Given the description of an element on the screen output the (x, y) to click on. 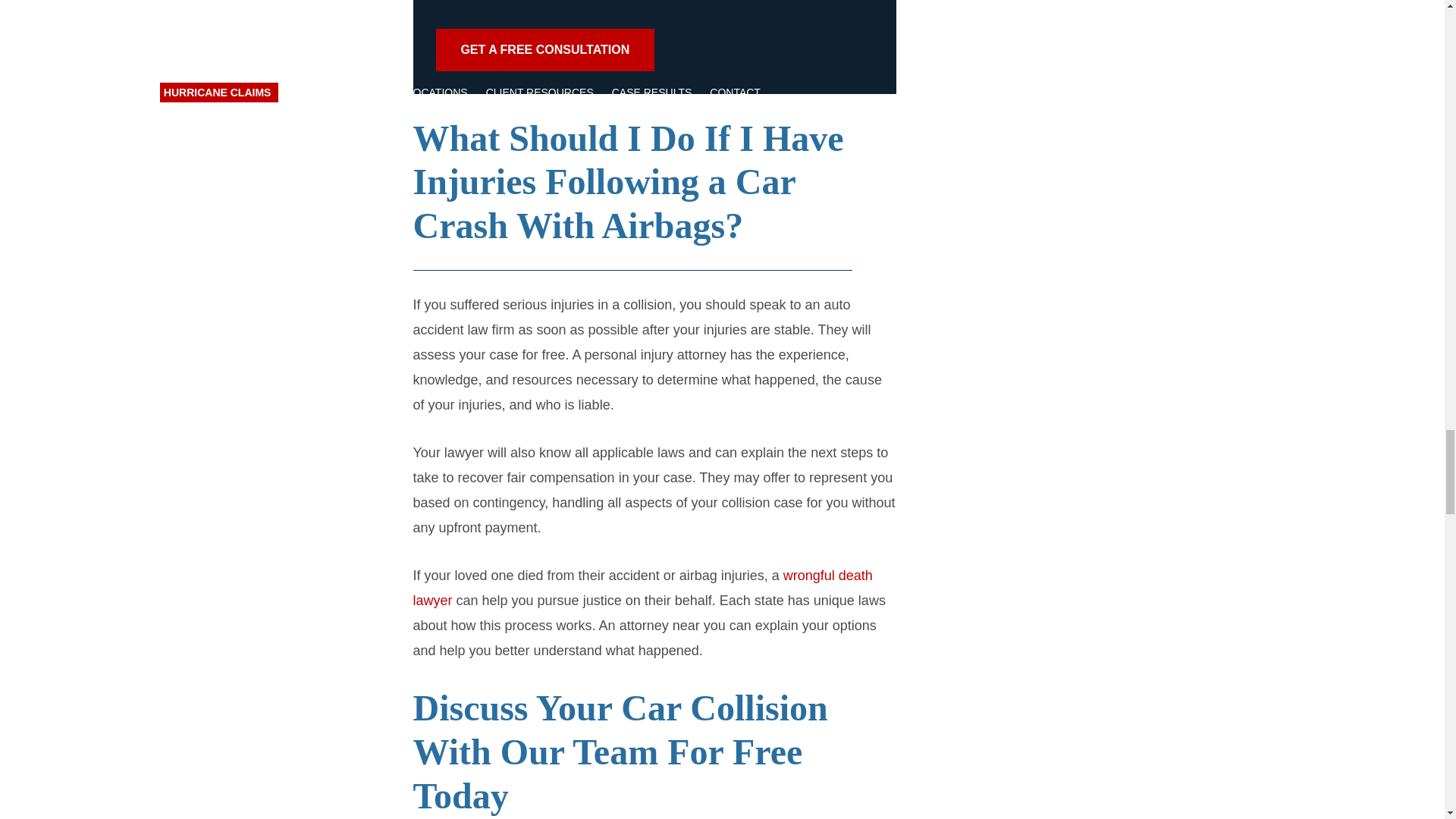
GET A FREE CONSULTATION (544, 49)
